Given the description of an element on the screen output the (x, y) to click on. 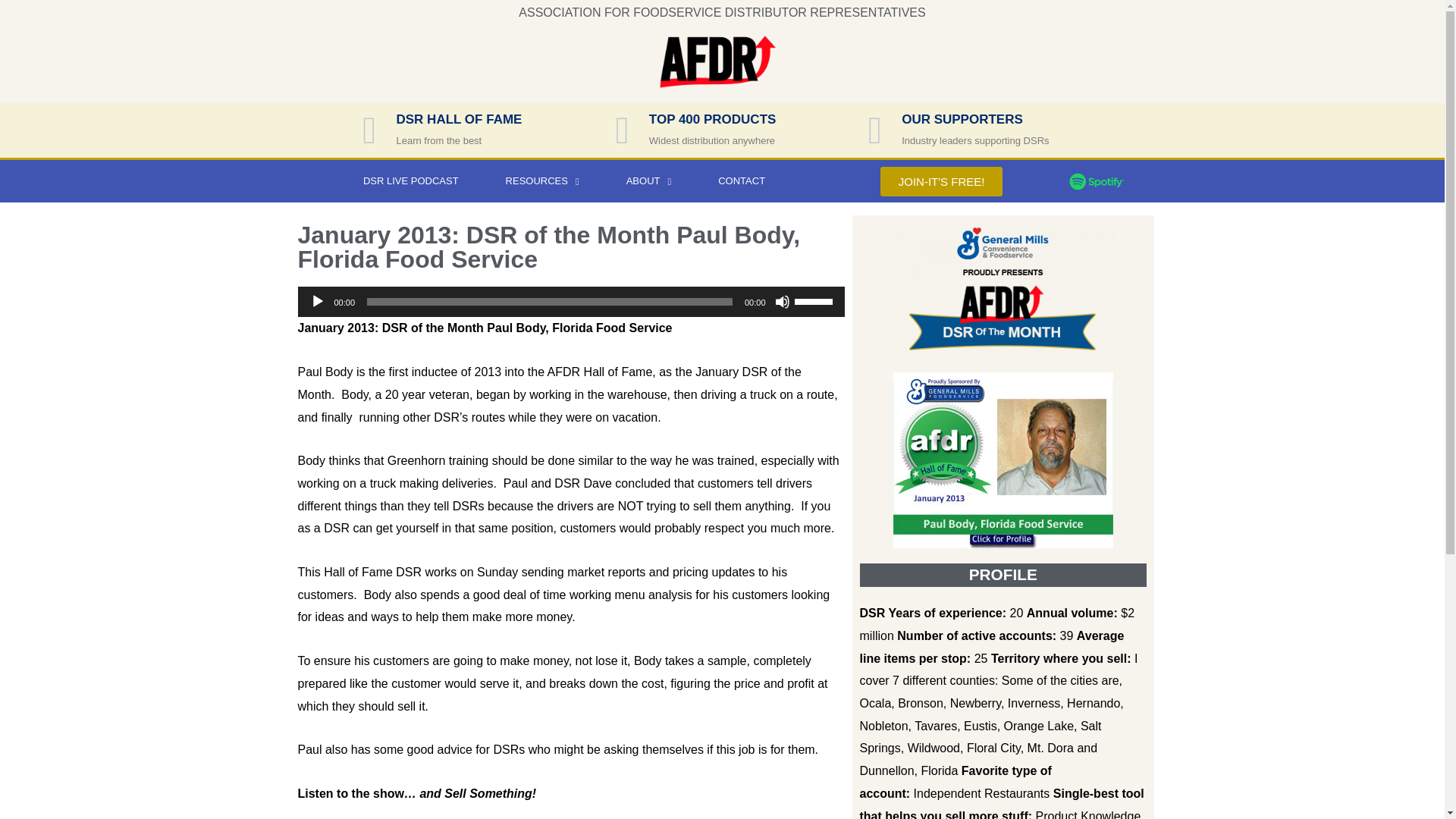
DSR HALL OF FAME (458, 119)
CONTACT (741, 180)
OUR SUPPORTERS (962, 119)
Mute (782, 301)
RESOURCES (541, 180)
DSR LIVE PODCAST (410, 180)
TOP 400 PRODUCTS (712, 119)
JOIN-IT'S FREE! (941, 181)
ABOUT (648, 180)
Play (316, 301)
